Given the description of an element on the screen output the (x, y) to click on. 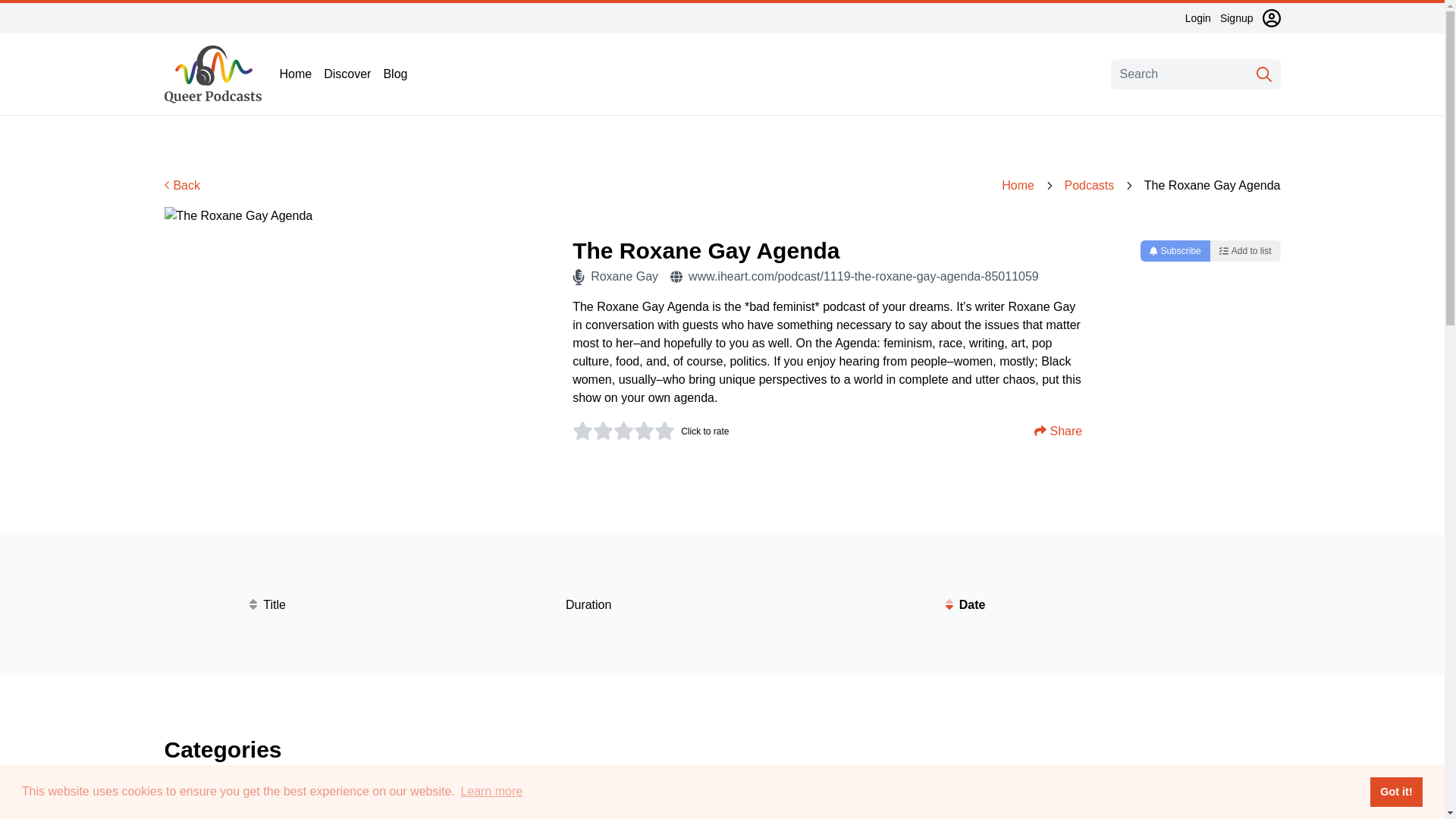
Search (1262, 73)
Back (181, 185)
Subscribe (1174, 250)
Podcasts (1089, 185)
Login (1198, 17)
Share (1057, 431)
Got it! (1396, 791)
Leisure (951, 809)
Date (964, 605)
Learn more (491, 791)
